Given the description of an element on the screen output the (x, y) to click on. 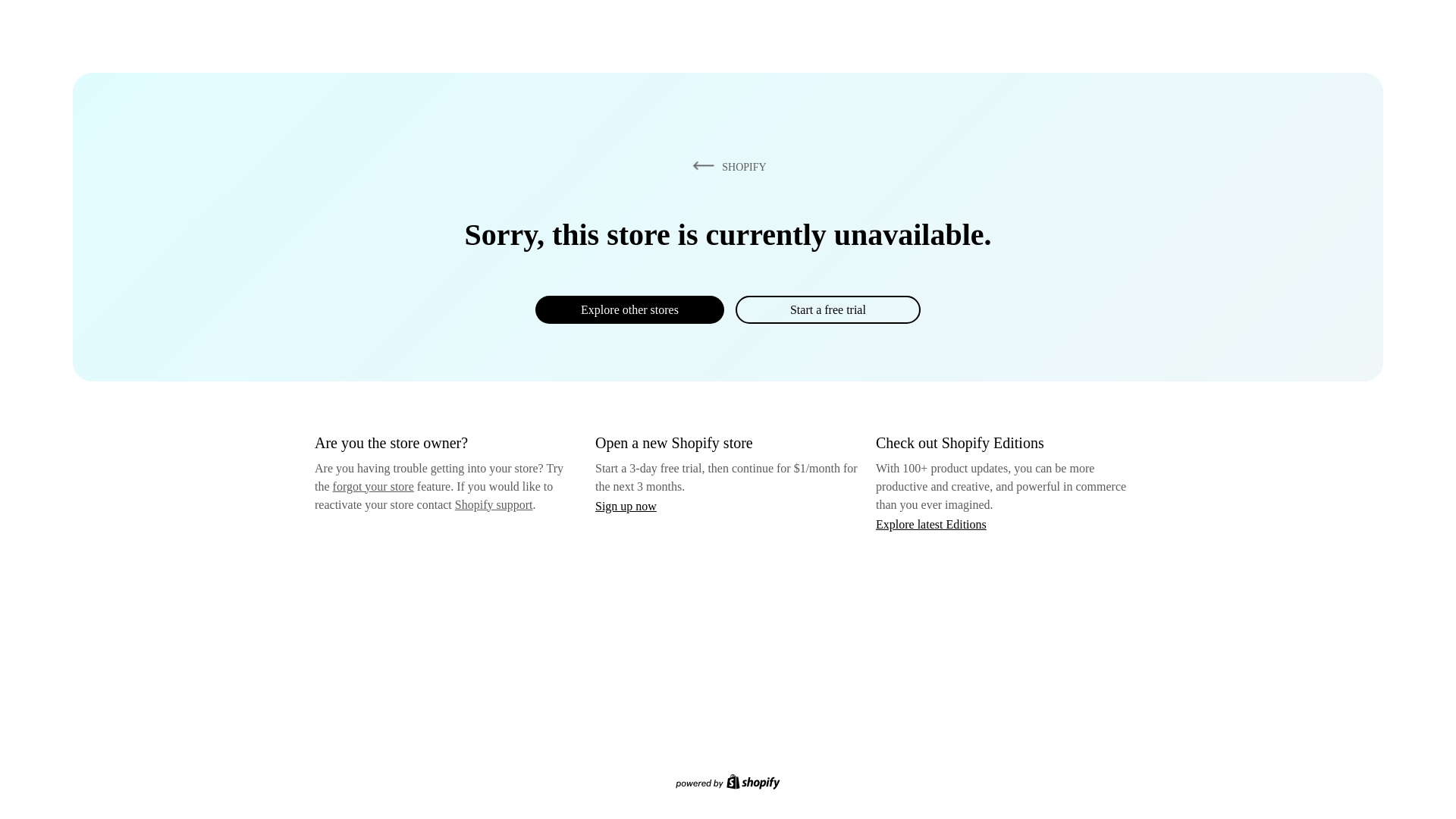
Explore other stores (629, 309)
Shopify support (493, 504)
SHOPIFY (726, 166)
forgot your store (373, 486)
Start a free trial (827, 309)
Explore latest Editions (931, 523)
Sign up now (625, 505)
